Given the description of an element on the screen output the (x, y) to click on. 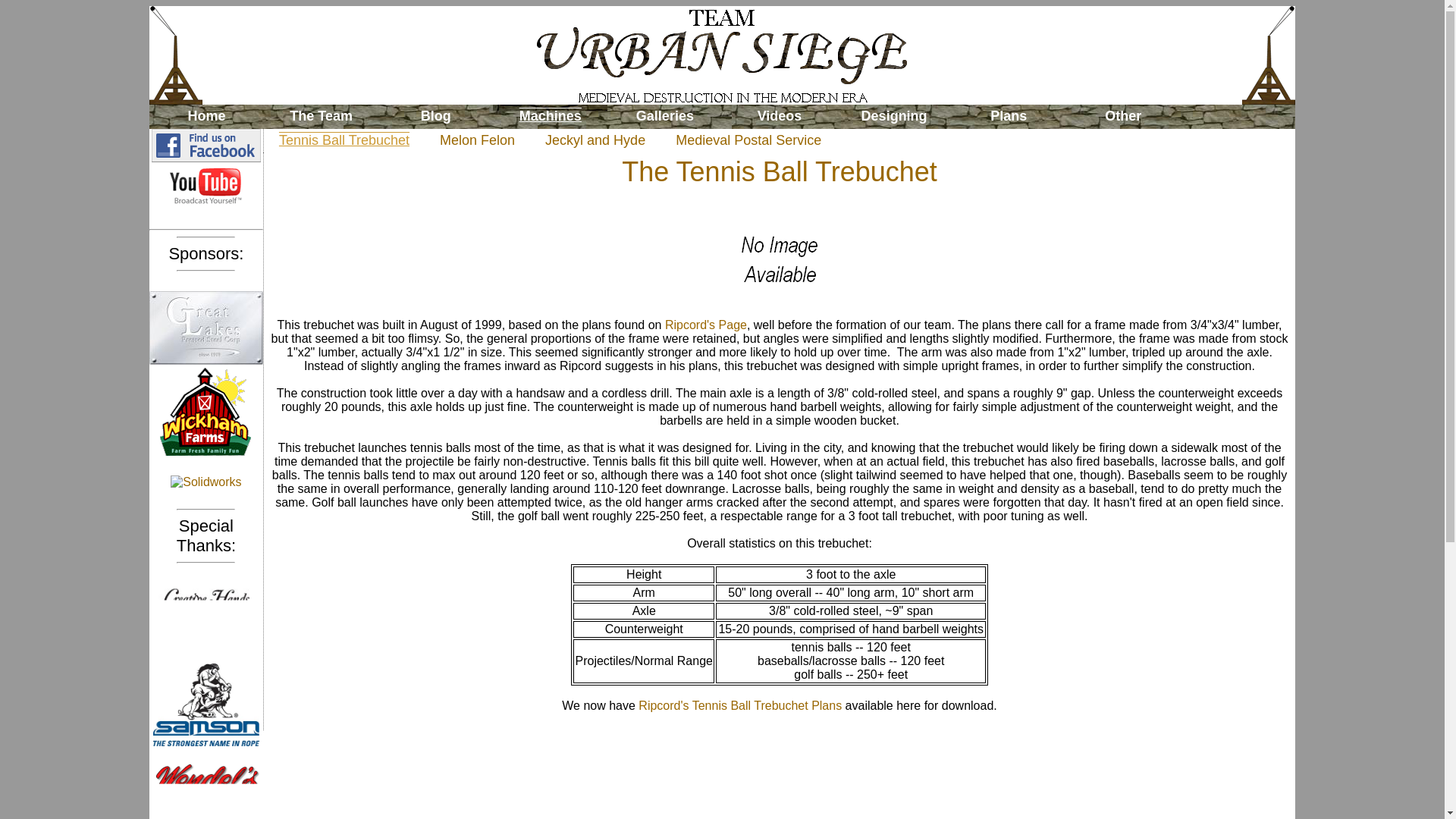
Jeckyl and Hyde (594, 139)
Image Galleries (664, 116)
Plans (1008, 116)
Ripcord's Tennis Ball Trebuchet Plans (740, 705)
Designing Trebuchets (894, 116)
Medieval Postal Service (748, 139)
Melon Felon (477, 139)
Galleries (664, 116)
Videos (778, 116)
Machines (550, 116)
Jeckyl and Hyde (594, 139)
Videos (778, 116)
Tennis Ball Trebuchet (344, 139)
Other (1122, 116)
The Tennis Ball Trebuchet (344, 139)
